Given the description of an element on the screen output the (x, y) to click on. 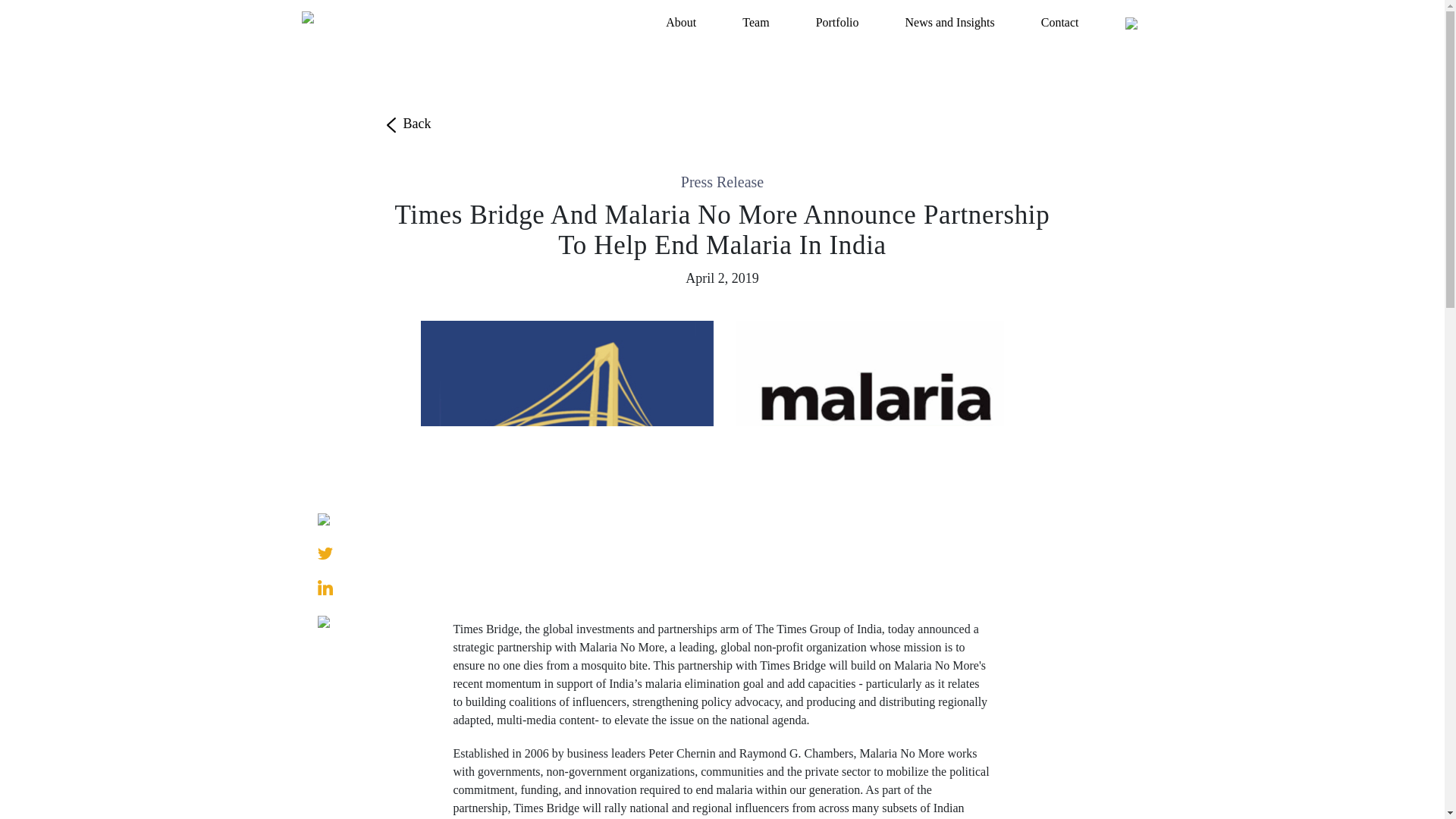
Back (406, 123)
Portfolio (836, 22)
News and Insights (950, 22)
About (680, 22)
Contact (1059, 22)
Team (755, 22)
